Given the description of an element on the screen output the (x, y) to click on. 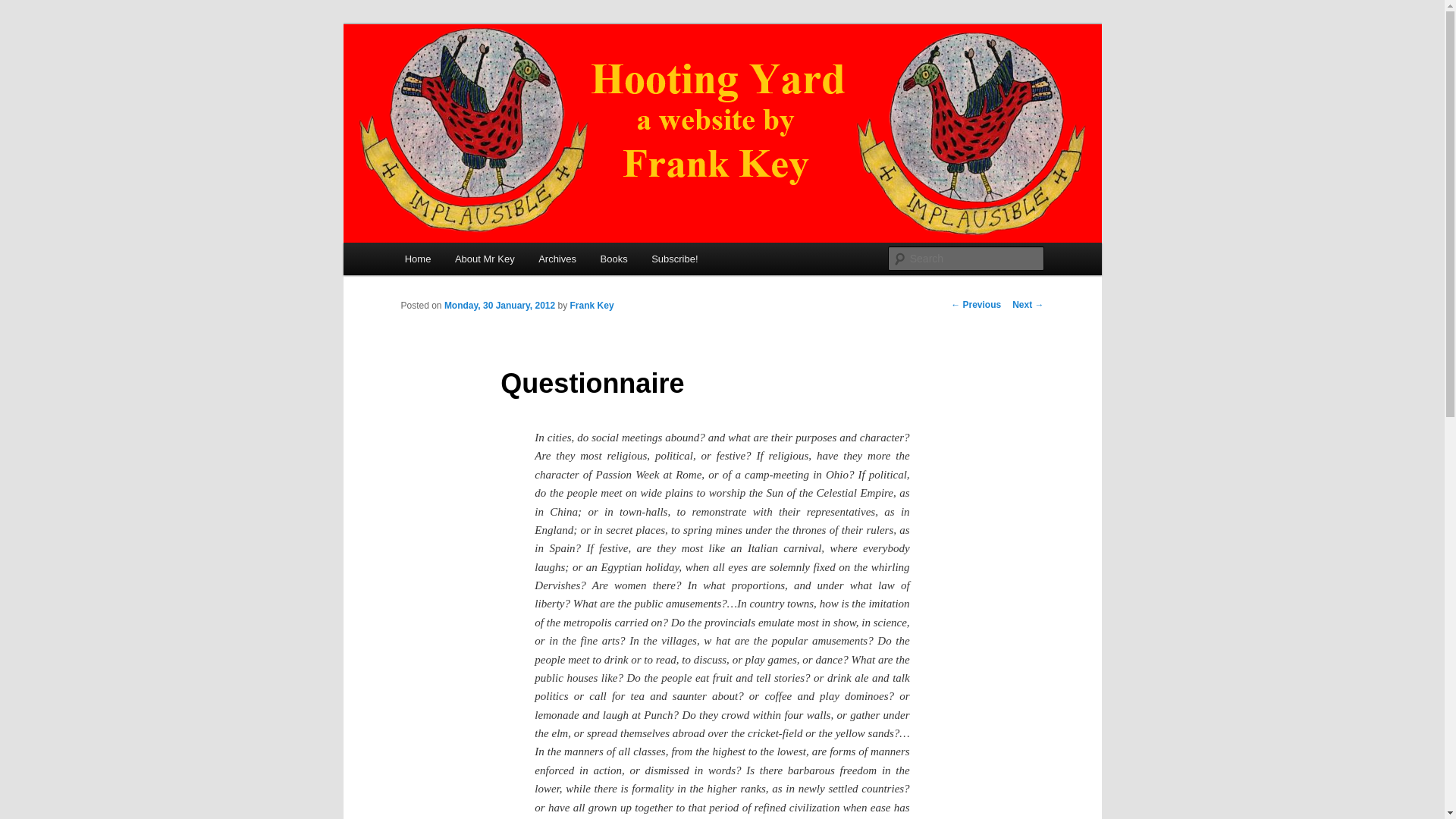
About Mr Key (483, 258)
Books (614, 258)
6:00 pm (499, 305)
Search (24, 8)
Monday, 30 January, 2012 (499, 305)
Archives (556, 258)
Frank Key (592, 305)
Subscribe! (674, 258)
Home (417, 258)
Hooting Yard (470, 78)
View all posts by Frank Key (592, 305)
